Given the description of an element on the screen output the (x, y) to click on. 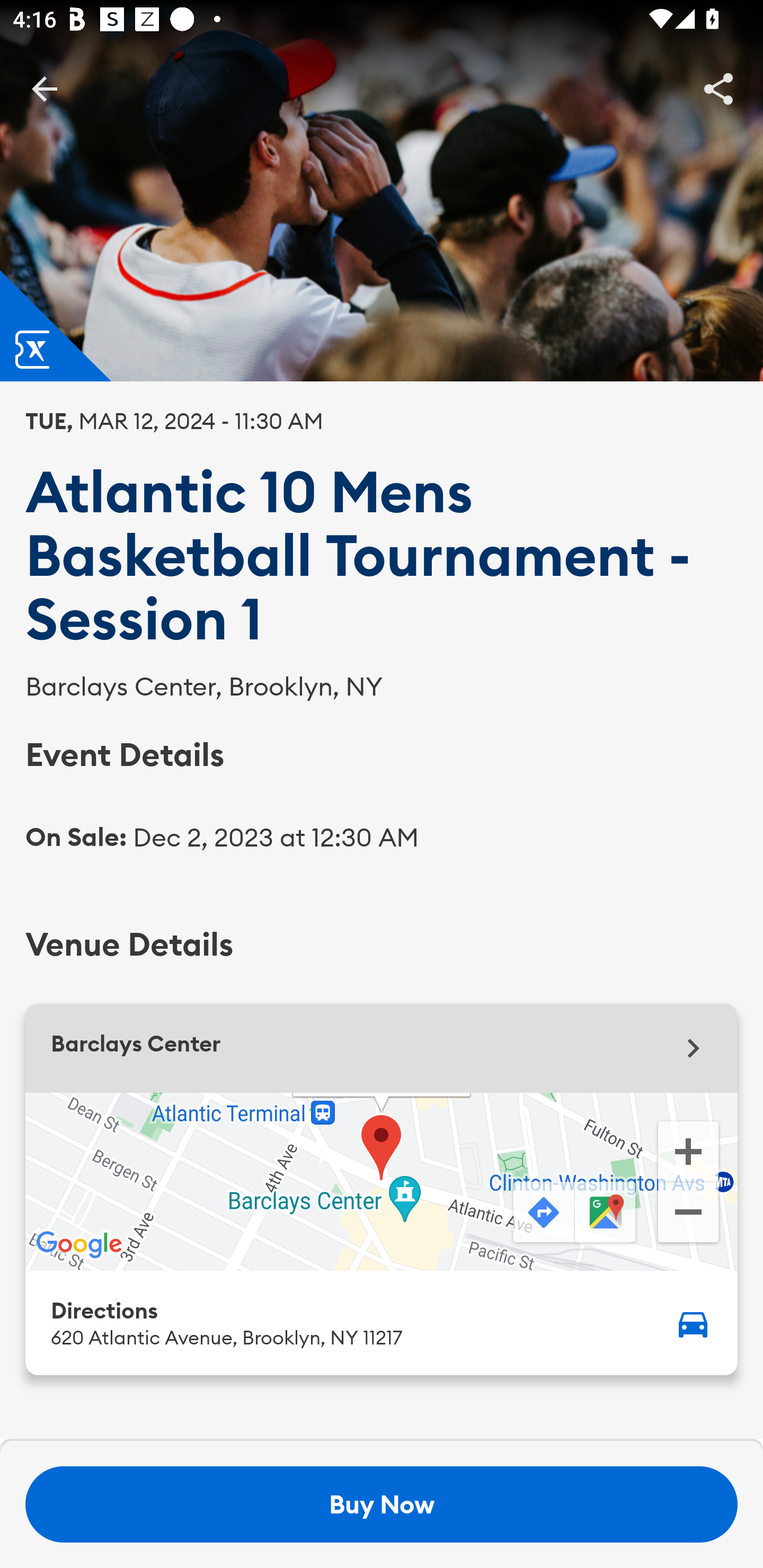
BackButton (44, 88)
Share (718, 88)
Barclays Center (381, 1047)
Zoom in (687, 1149)
Get directions (541, 1212)
Open in Google Maps (606, 1212)
Zoom out (687, 1214)
Directions 620 Atlantic Avenue, Brooklyn, NY 11217 (381, 1322)
Buy Now (381, 1504)
